Given the description of an element on the screen output the (x, y) to click on. 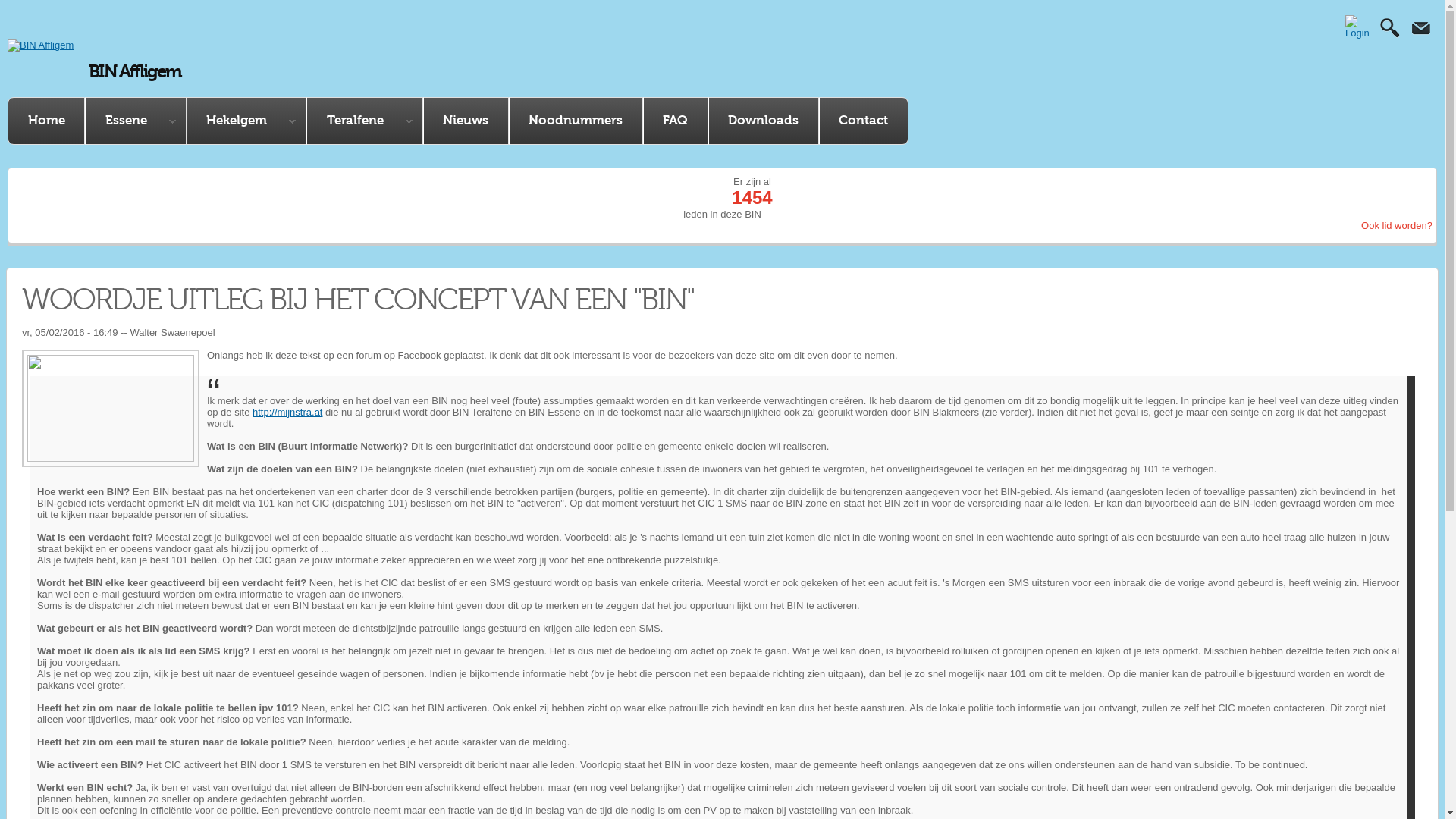
Zoeken Element type: text (1389, 57)
FAQ Element type: text (674, 119)
BIN Affligem Element type: hover (40, 45)
Noodnummers Element type: text (575, 119)
Overslaan en naar de inhoud gaan Element type: text (700, 16)
Home Element type: text (46, 119)
Ook lid worden? Element type: text (1396, 225)
BIN Affligem Element type: text (134, 70)
Nieuws Element type: text (465, 119)
http://mijnstra.at Element type: text (287, 411)
HOME Element type: text (41, 187)
Contact Element type: text (862, 119)
Downloads Element type: text (762, 119)
